Given the description of an element on the screen output the (x, y) to click on. 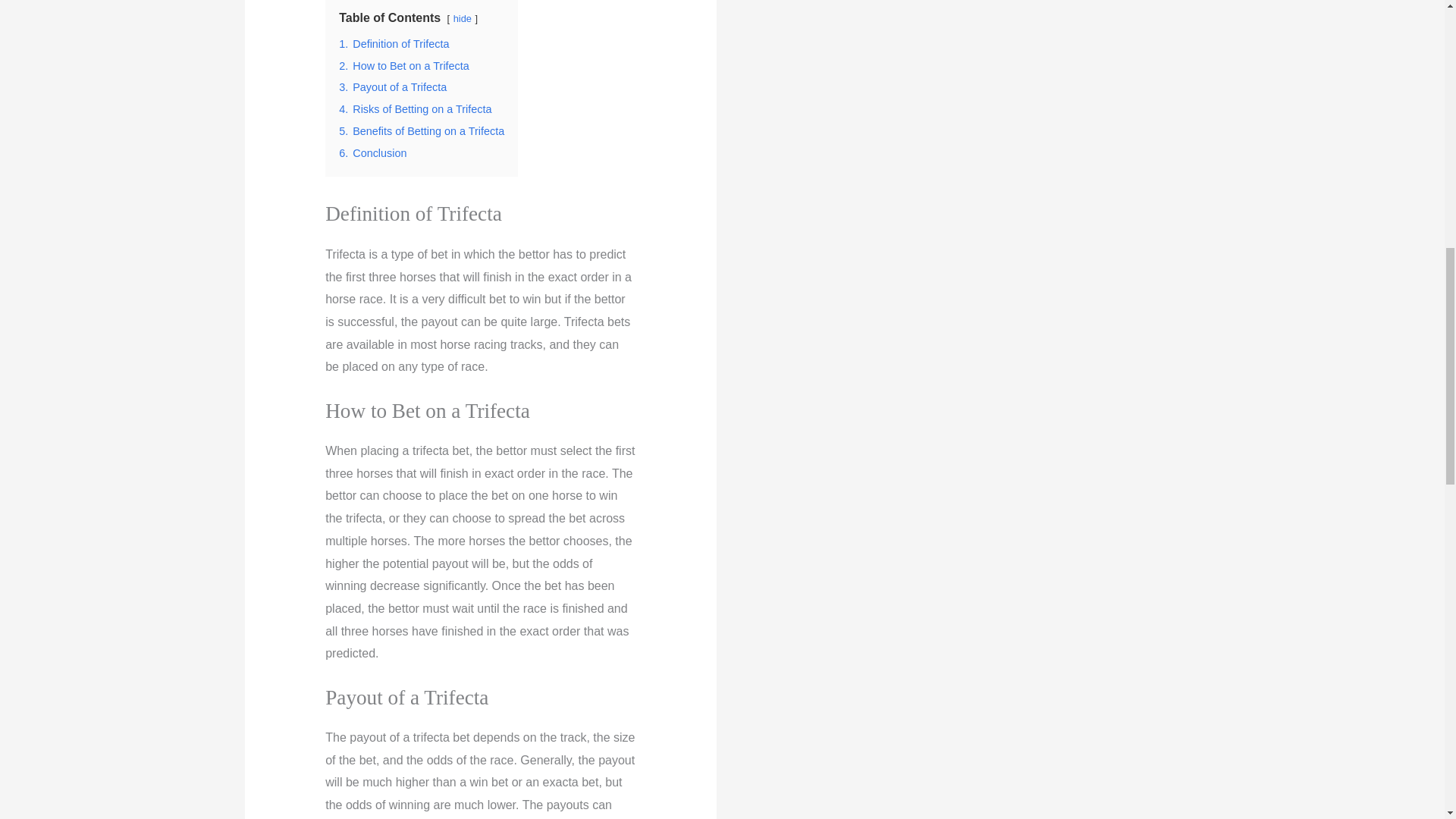
6. Conclusion (372, 152)
1. Definition of Trifecta (393, 43)
5. Benefits of Betting on a Trifecta (421, 131)
hide (461, 18)
3. Payout of a Trifecta (392, 87)
4. Risks of Betting on a Trifecta (415, 109)
2. How to Bet on a Trifecta (403, 65)
